Given the description of an element on the screen output the (x, y) to click on. 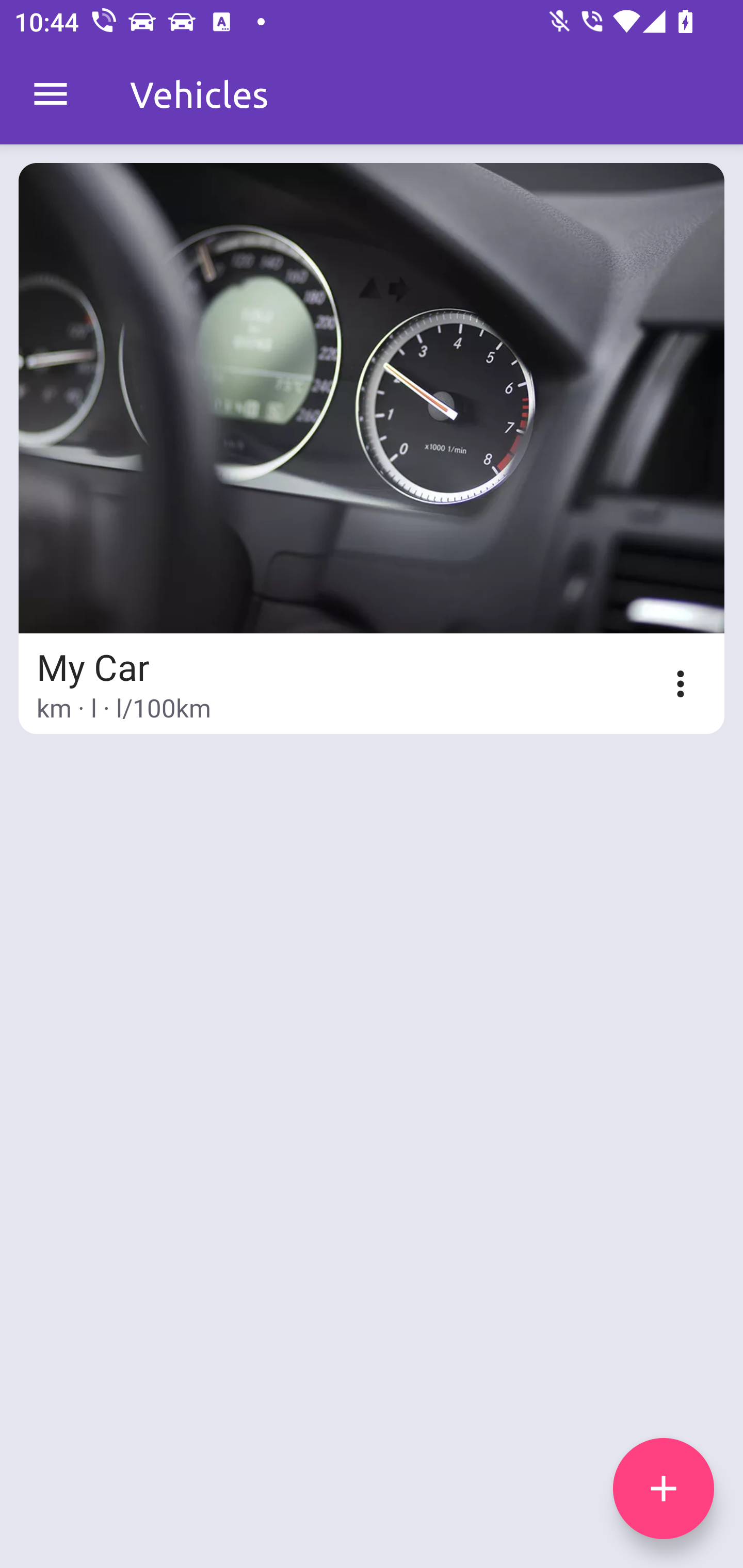
MenuDrawer (50, 93)
My Car km · l · l/100km (371, 448)
add icon (663, 1488)
